Given the description of an element on the screen output the (x, y) to click on. 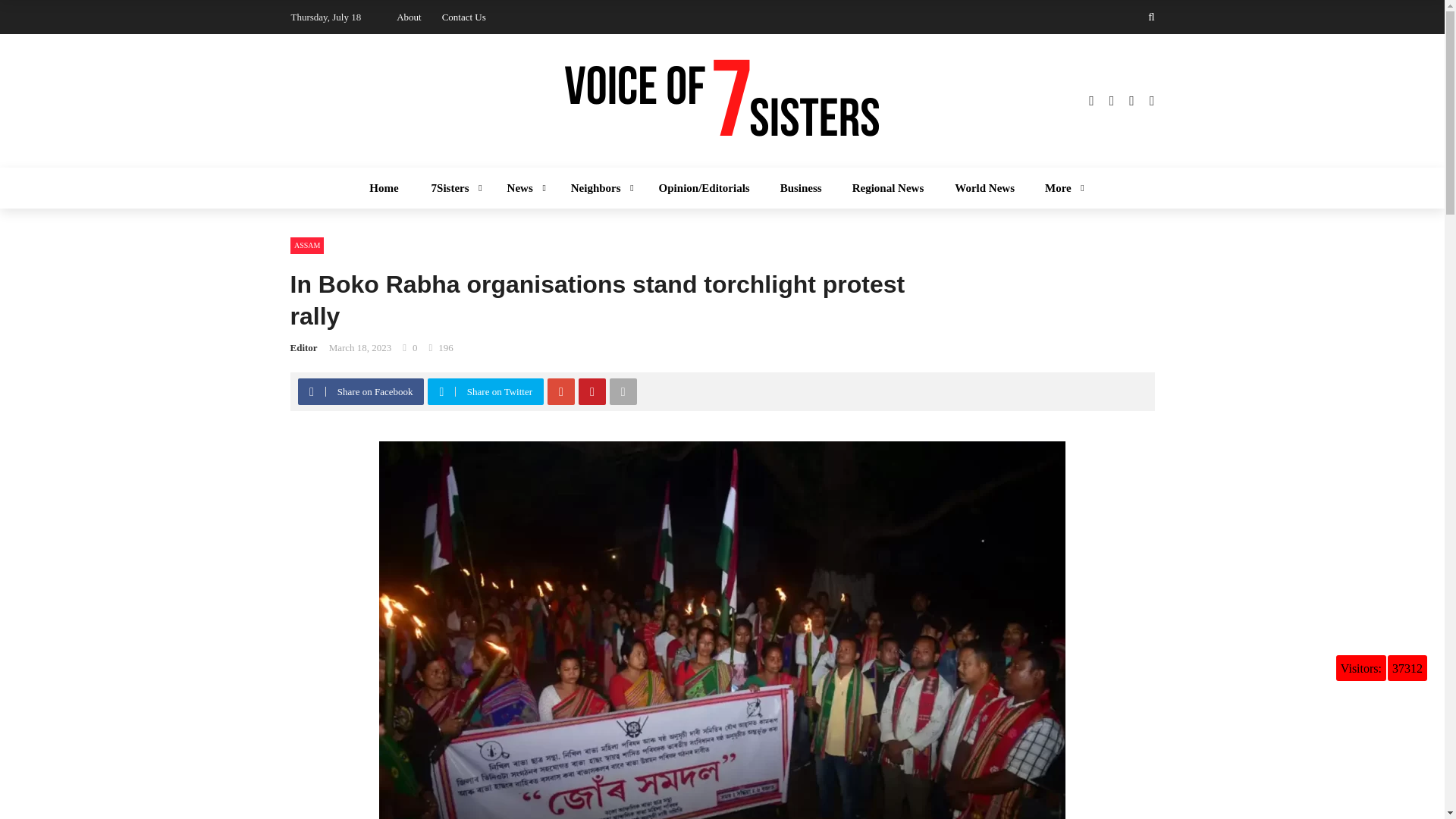
Pinterest (591, 391)
Contact Us (464, 16)
Facebook (311, 391)
Home (383, 187)
About (409, 16)
Google Plus (561, 391)
Twitter (441, 391)
7Sisters (454, 187)
